Given the description of an element on the screen output the (x, y) to click on. 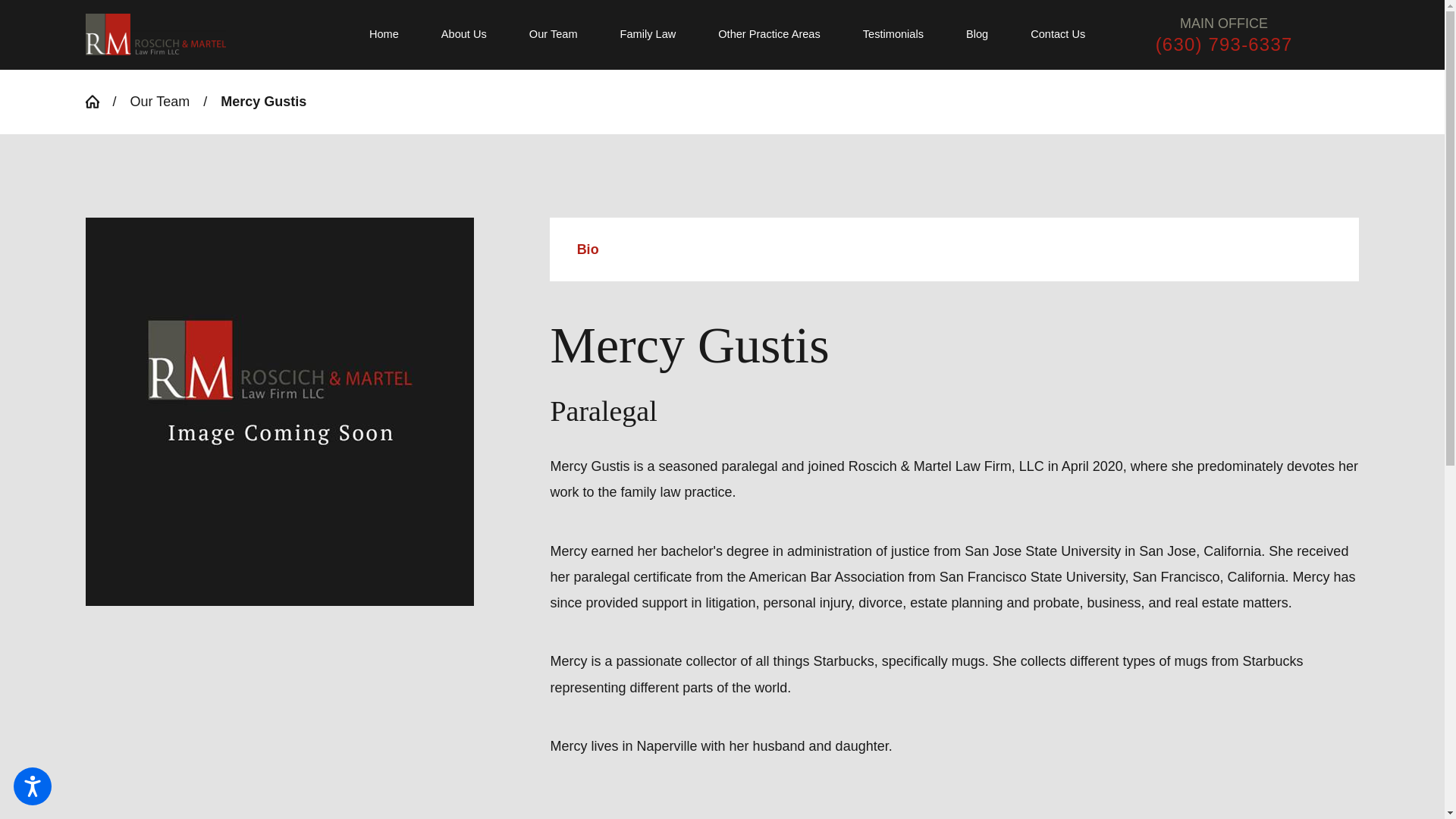
Family Law (647, 34)
Home (394, 34)
Our Team (553, 34)
Other Practice Areas (769, 34)
About Us (464, 34)
Open the accessibility options menu (31, 786)
Go Home (98, 101)
Bio (954, 249)
